Given the description of an element on the screen output the (x, y) to click on. 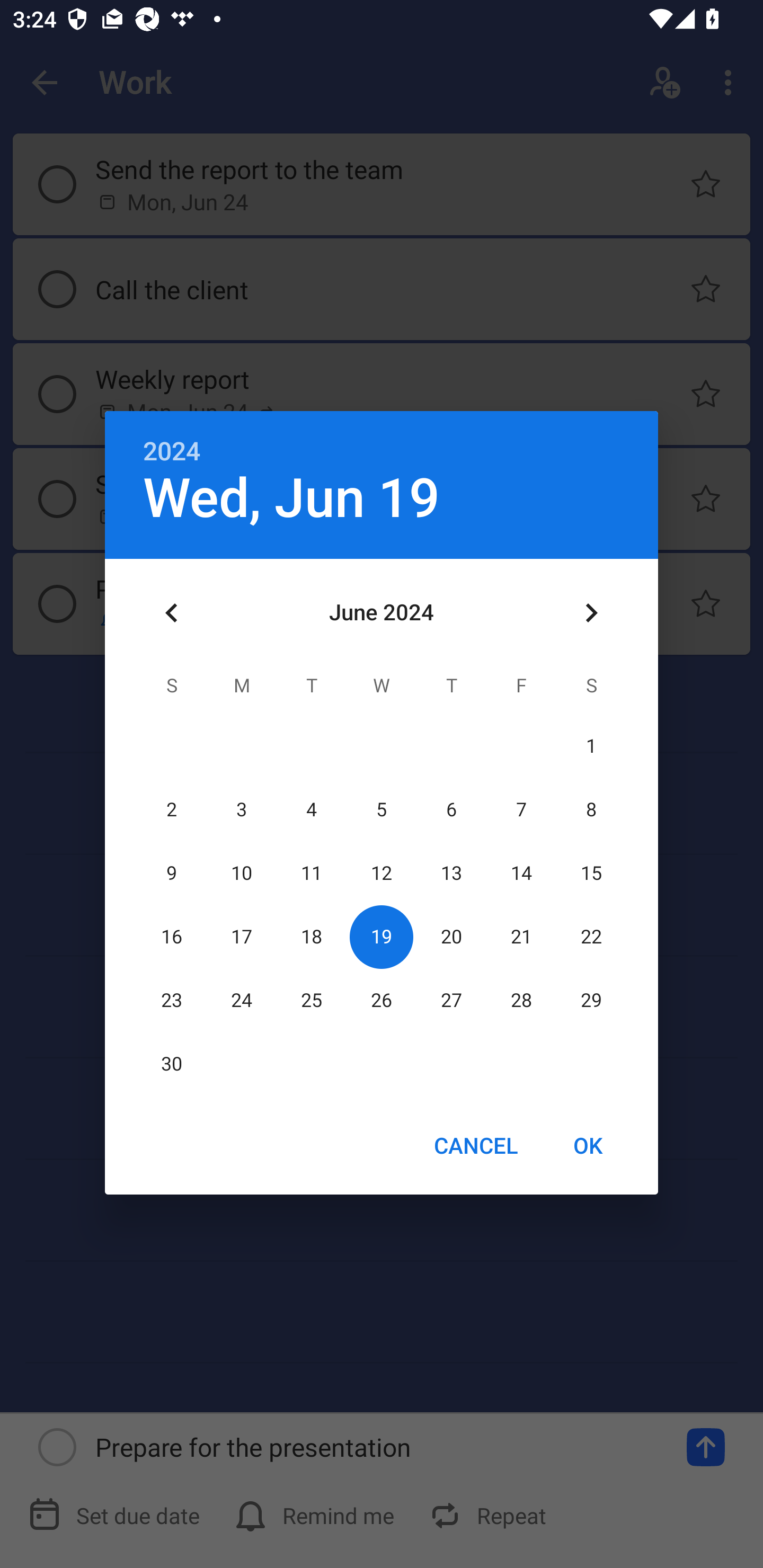
27 27 June 2024 (451, 1000)
